Given the description of an element on the screen output the (x, y) to click on. 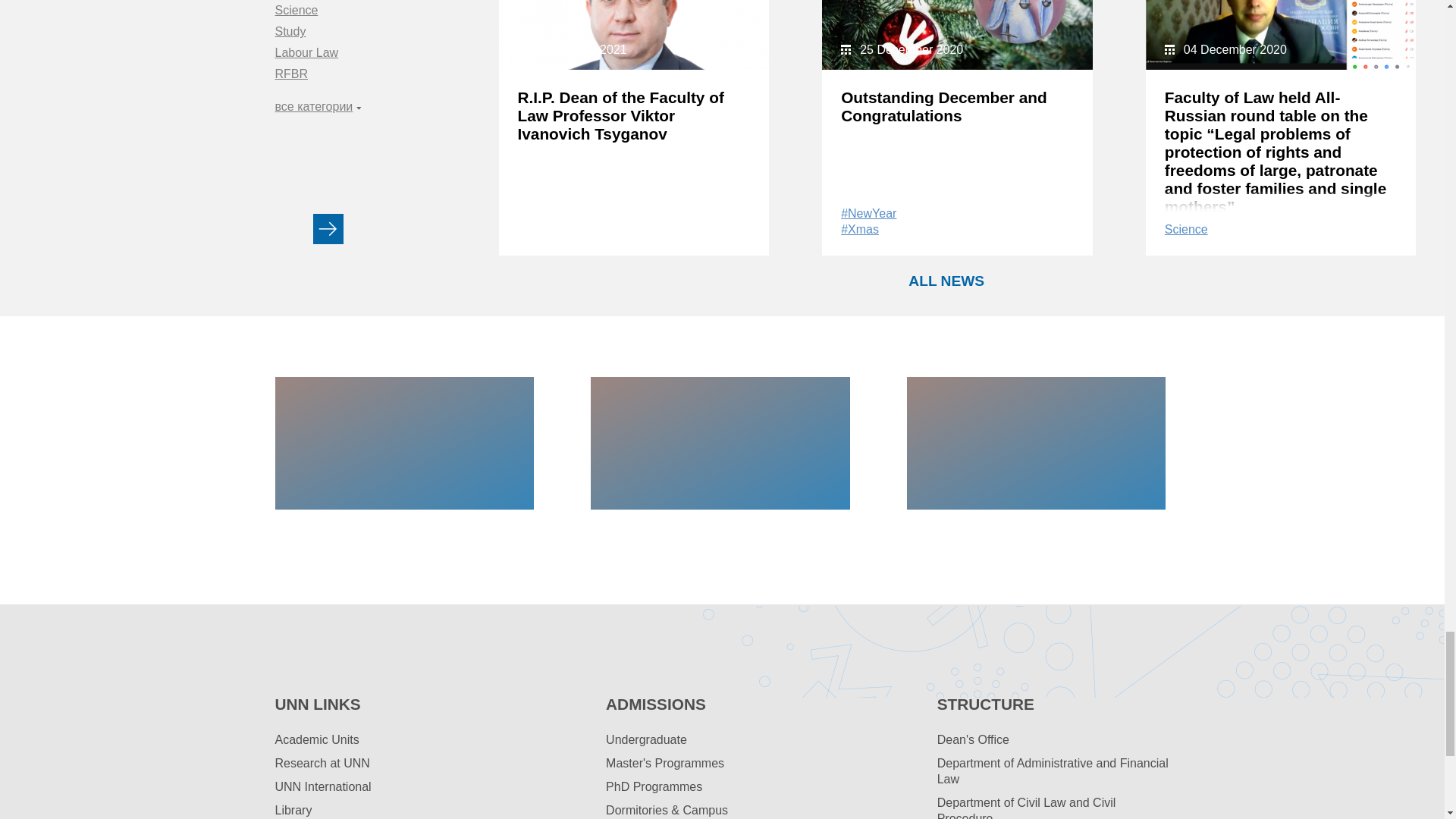
Study (290, 31)
Science (296, 10)
RFBR (291, 74)
Labour Law (306, 52)
